Given the description of an element on the screen output the (x, y) to click on. 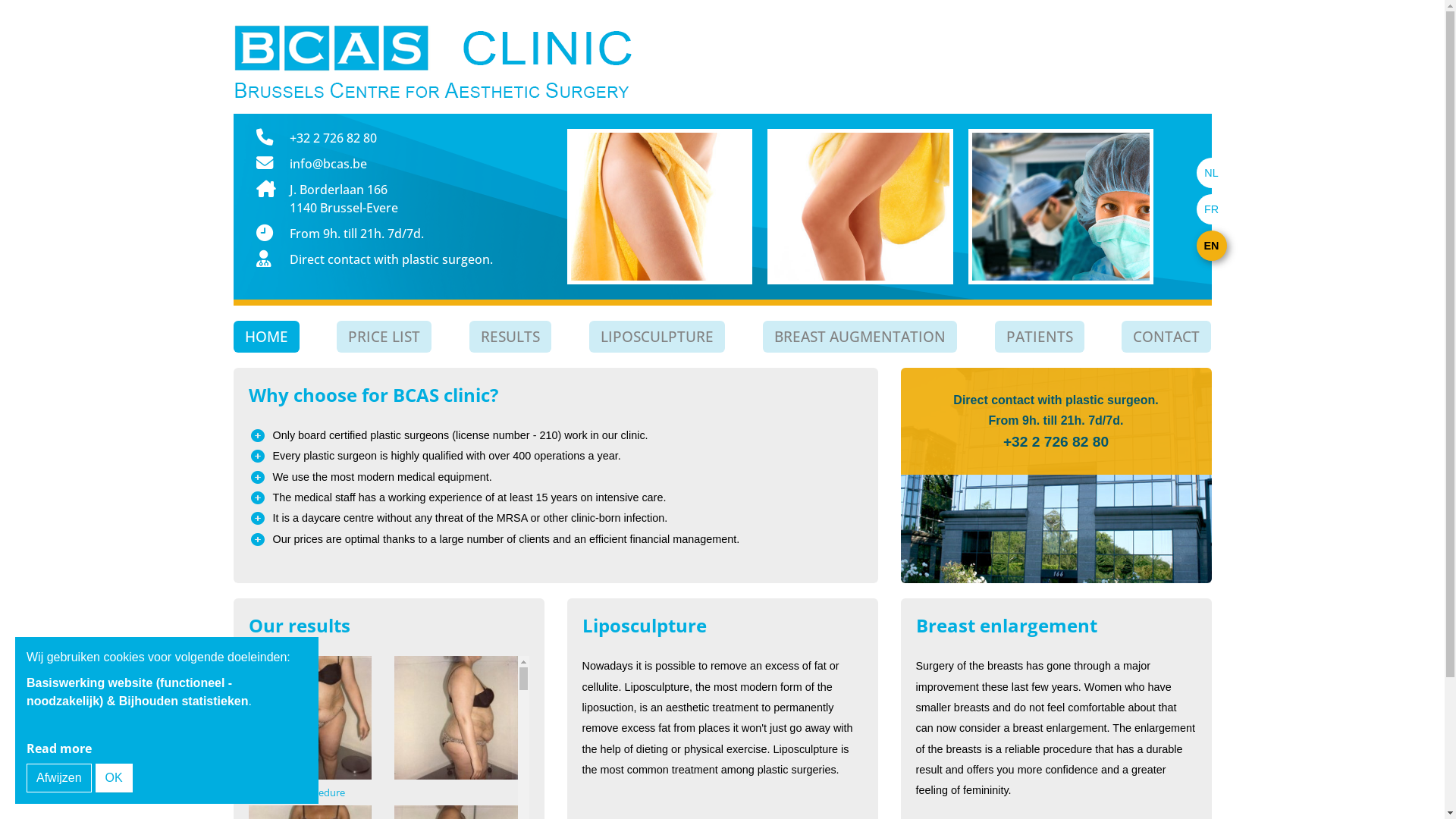
LIPOSCULPTURE Element type: text (656, 336)
CONTACT Element type: text (1166, 336)
NL Element type: text (1211, 172)
RESULTS Element type: text (510, 336)
BREAST AUGMENTATION Element type: text (859, 336)
OK Element type: text (113, 777)
Afwijzen Element type: text (58, 777)
+32 2 726 82 80 Element type: text (1055, 441)
PRICE LIST Element type: text (383, 336)
FR Element type: text (1211, 209)
PATIENTS Element type: text (1039, 336)
EN Element type: text (1211, 245)
info@bcas.be Element type: text (328, 163)
HOME Element type: text (266, 336)
Read more Element type: text (58, 748)
